Given the description of an element on the screen output the (x, y) to click on. 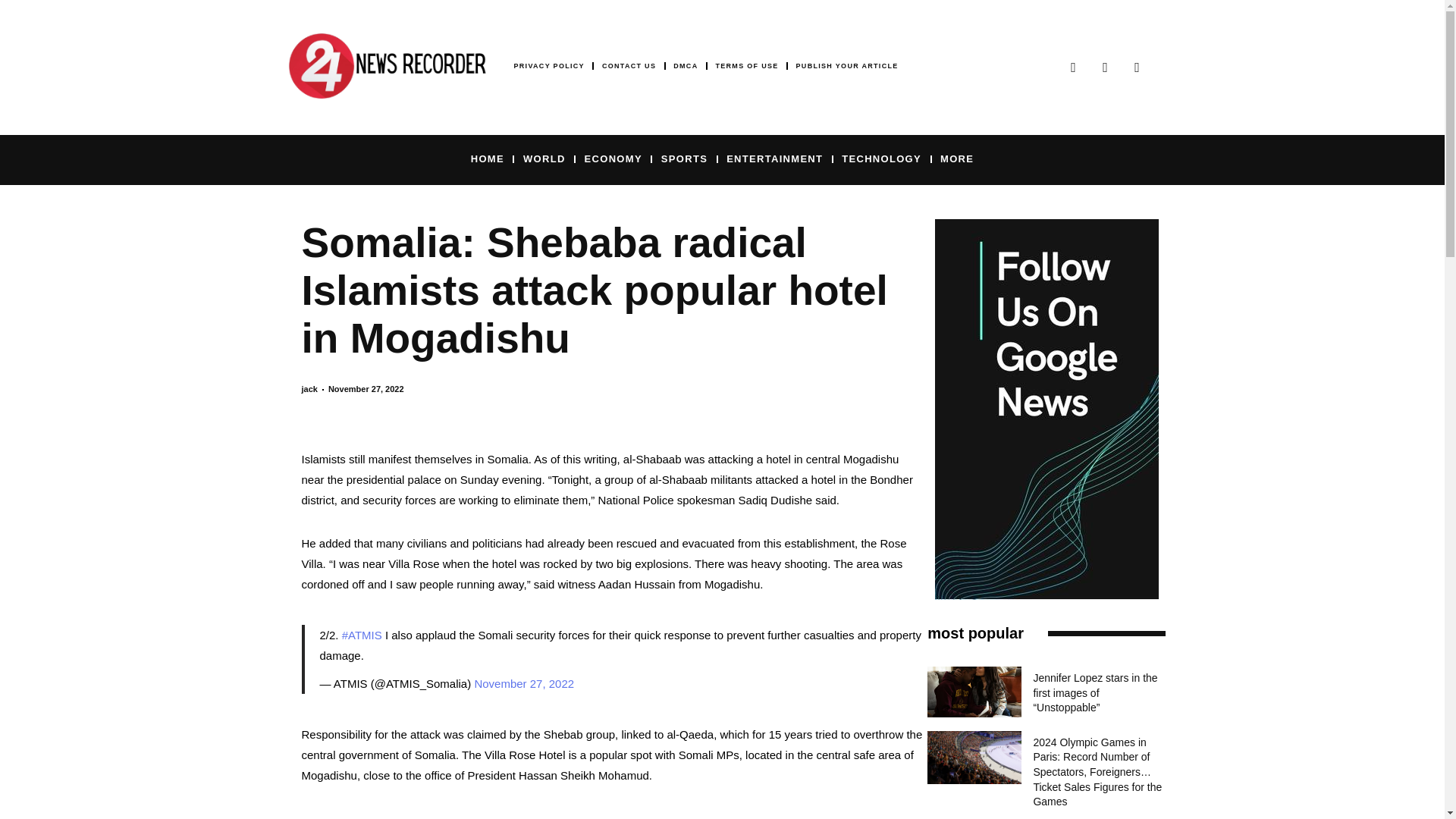
HOME (486, 158)
ECONOMY (613, 158)
TERMS OF USE (745, 66)
CONTACT US (628, 66)
WORLD (544, 158)
MORE (957, 158)
SPORTS (684, 158)
PUBLISH YOUR ARTICLE (847, 66)
TECHNOLOGY (881, 158)
Skip to content (11, 31)
